Given the description of an element on the screen output the (x, y) to click on. 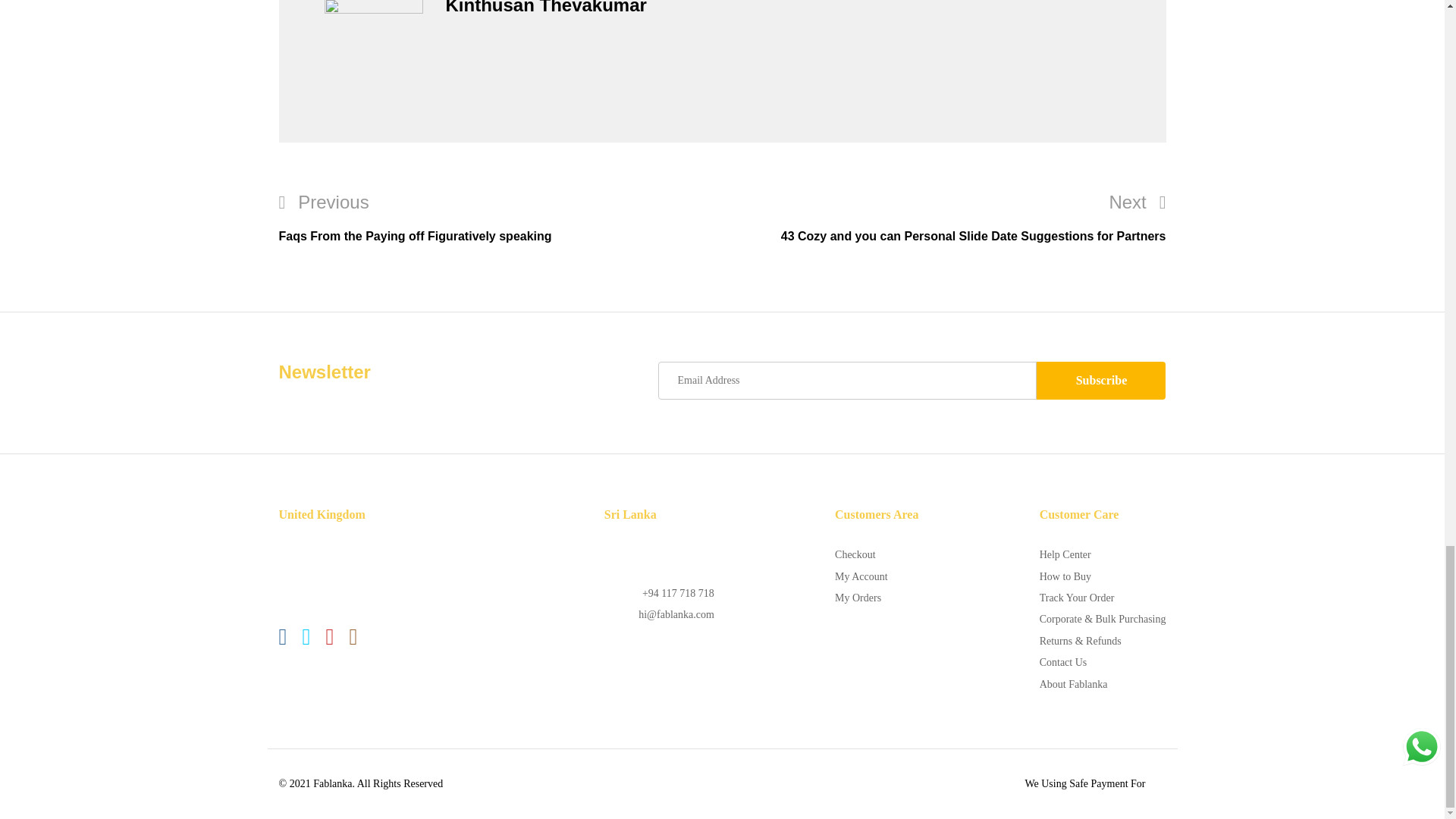
Instagram (352, 637)
Subscribe (1101, 380)
Facebook (282, 637)
Youtube (328, 637)
Twitter (305, 637)
